Given the description of an element on the screen output the (x, y) to click on. 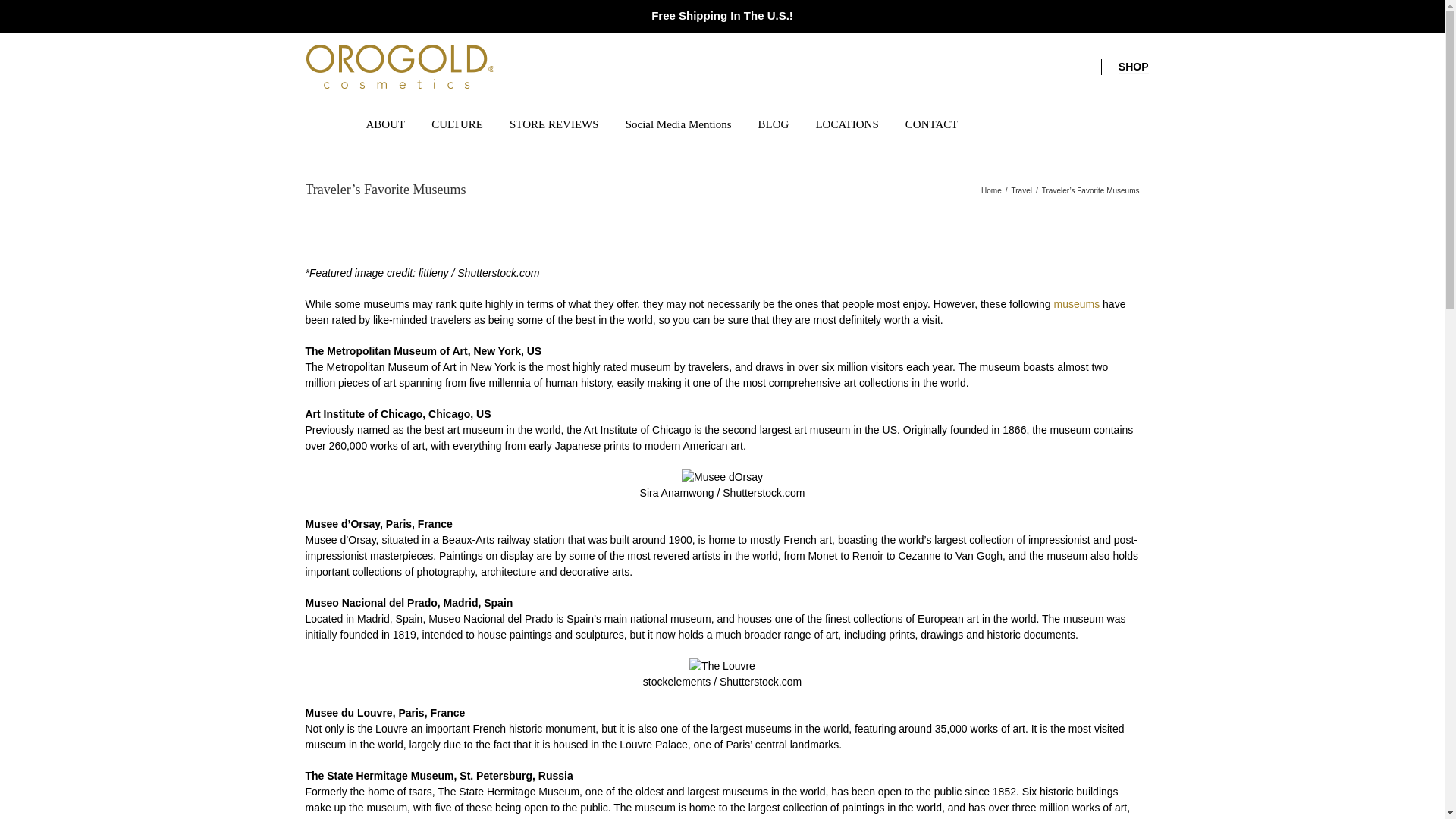
Home (991, 190)
Travel (1021, 190)
SHOP (1133, 66)
STORE REVIEWS (553, 123)
museums (1075, 303)
LOCATIONS (846, 123)
Social Media Mentions (679, 123)
